Given the description of an element on the screen output the (x, y) to click on. 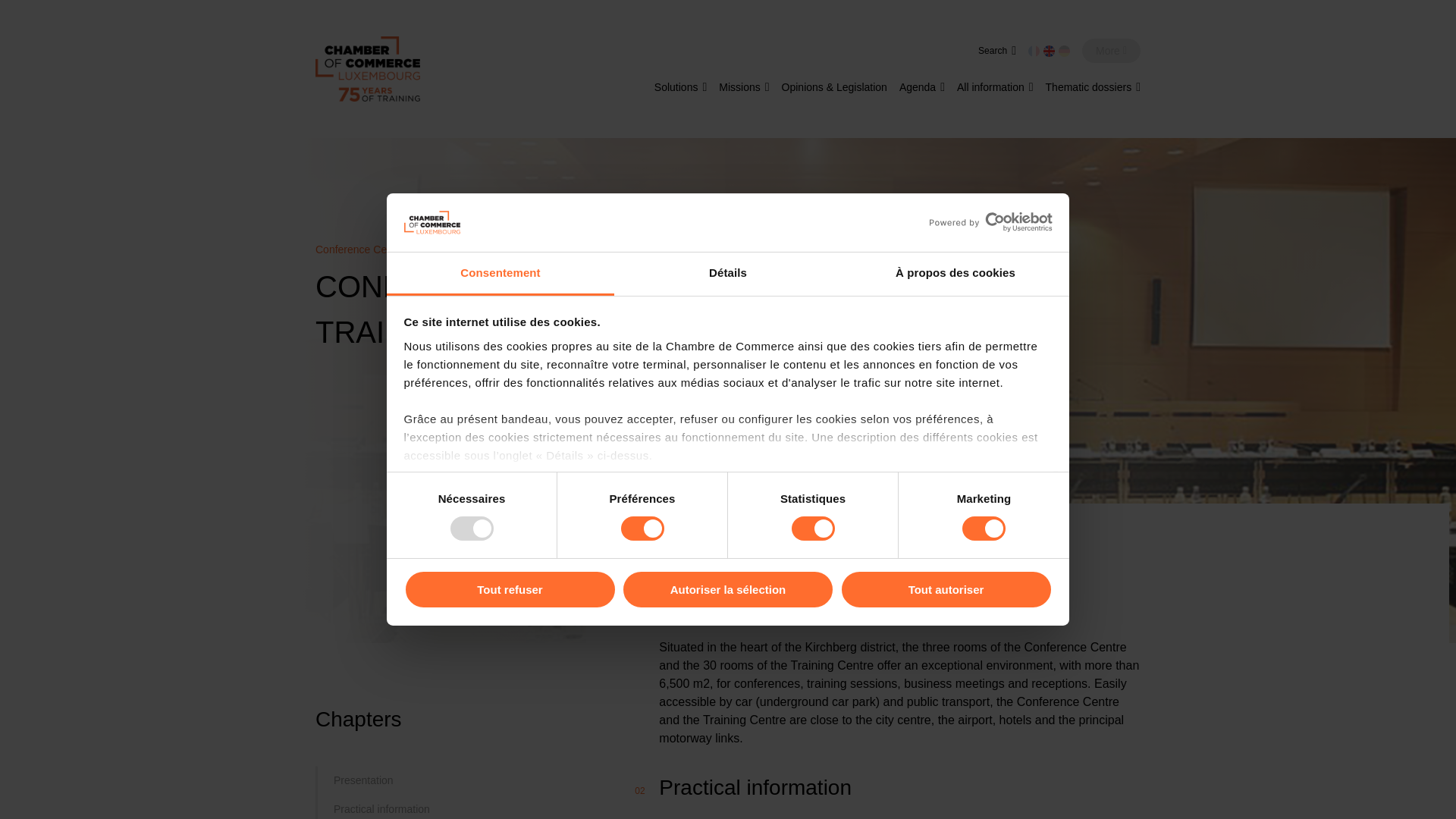
English (1048, 50)
Deutsch (1064, 50)
Consentement (500, 273)
